Given the description of an element on the screen output the (x, y) to click on. 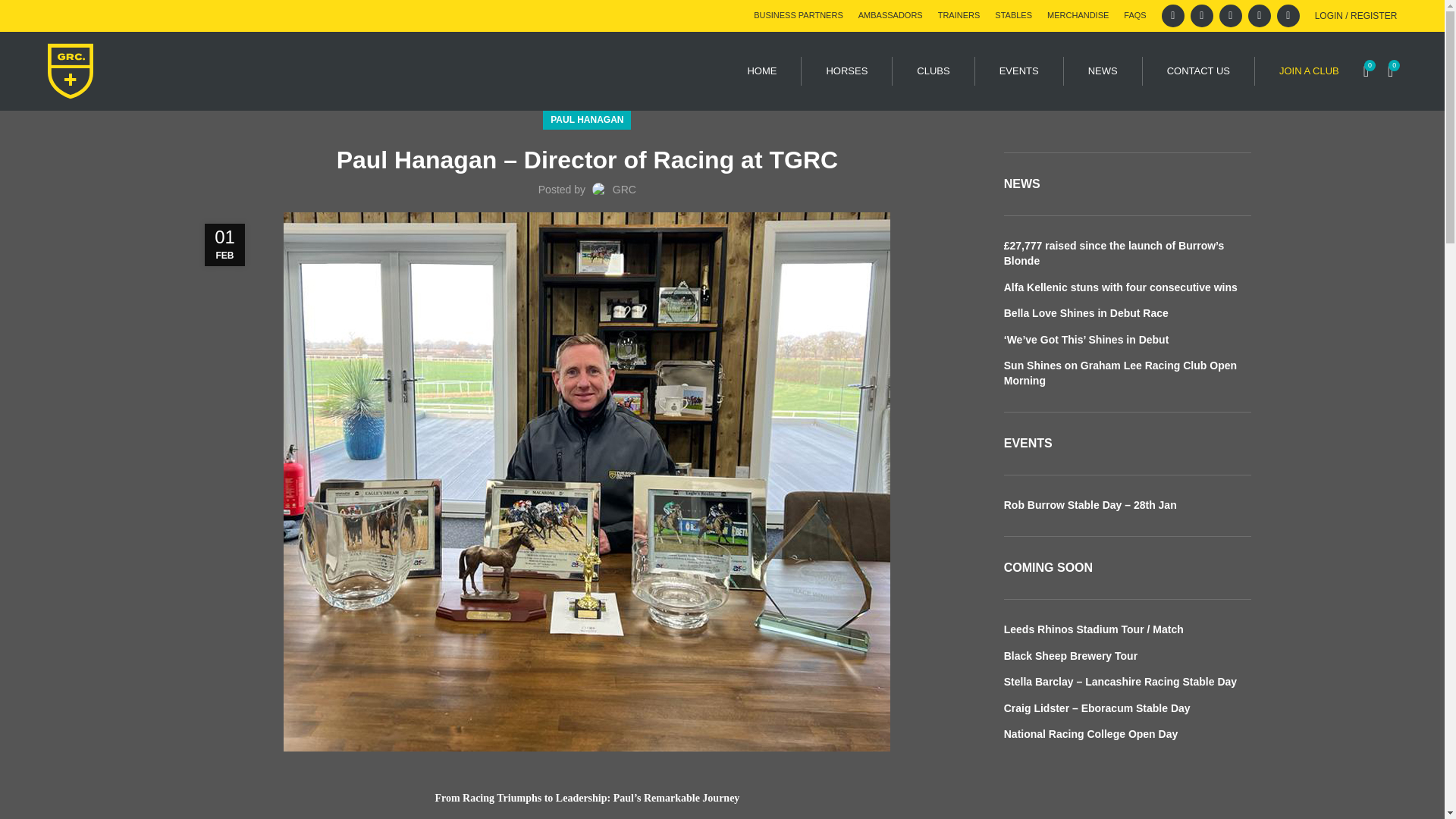
MERCHANDISE (1077, 15)
CONTACT US (1198, 71)
My account (1356, 15)
AMBASSADORS (891, 15)
NEWS (1102, 71)
TRAINERS (958, 15)
HORSES (846, 71)
PAUL HANAGAN (586, 119)
EVENTS (1019, 71)
